Given the description of an element on the screen output the (x, y) to click on. 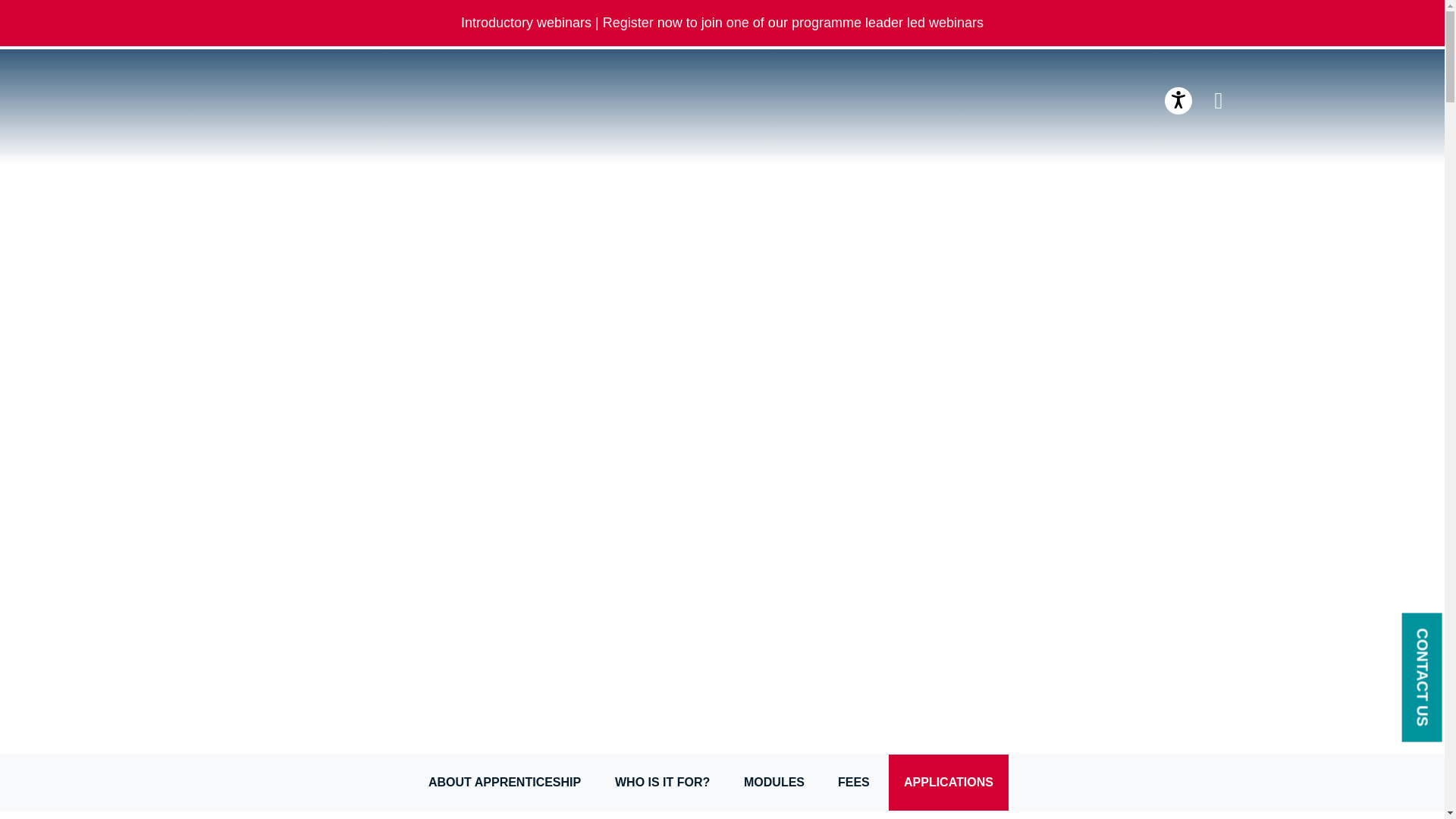
Accessibility (1178, 100)
